Given the description of an element on the screen output the (x, y) to click on. 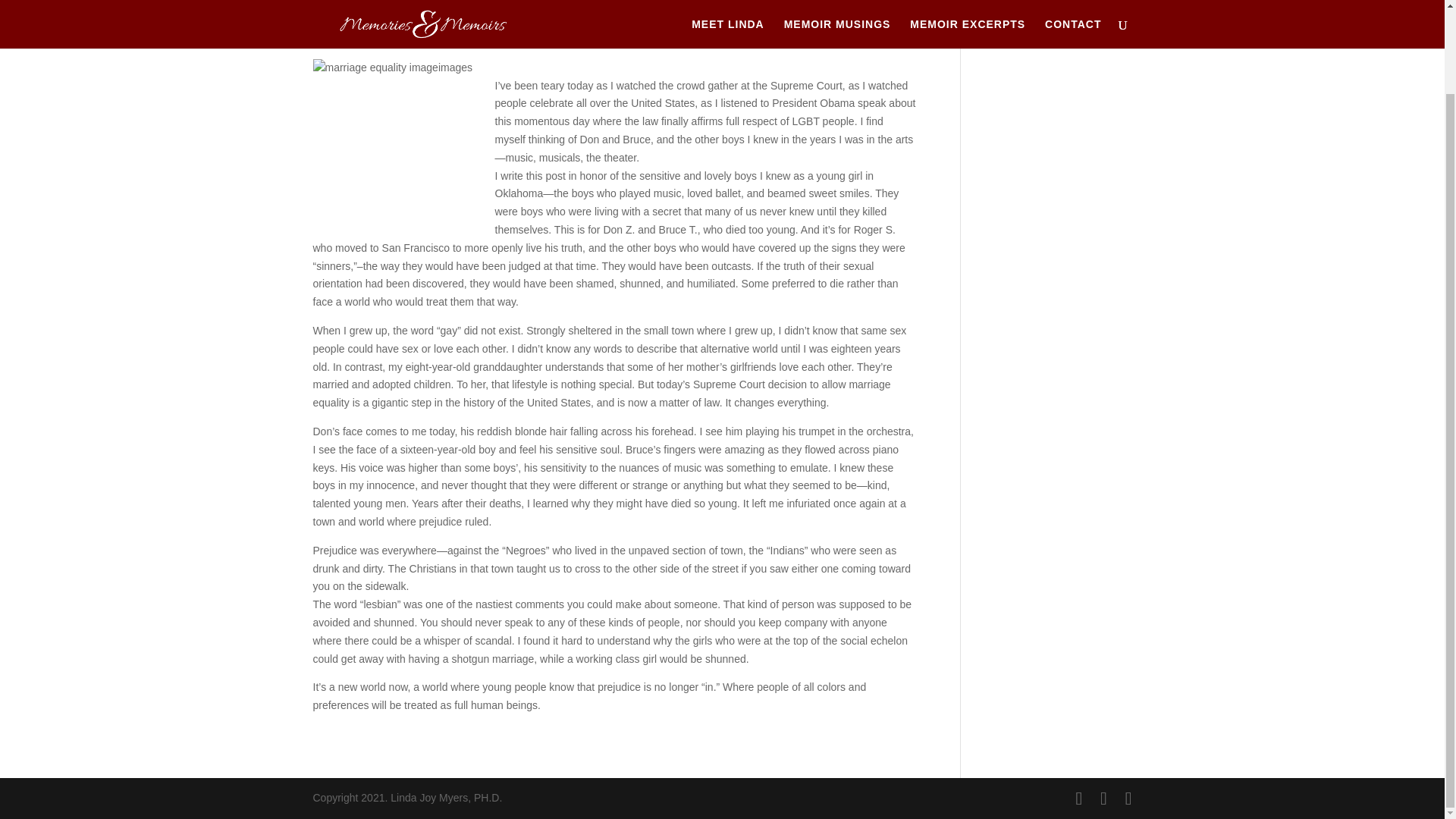
Memories and Memoirs (465, 33)
For Don and Bruce, Who Died Because They Were Different (576, 9)
Blog (393, 33)
